Given the description of an element on the screen output the (x, y) to click on. 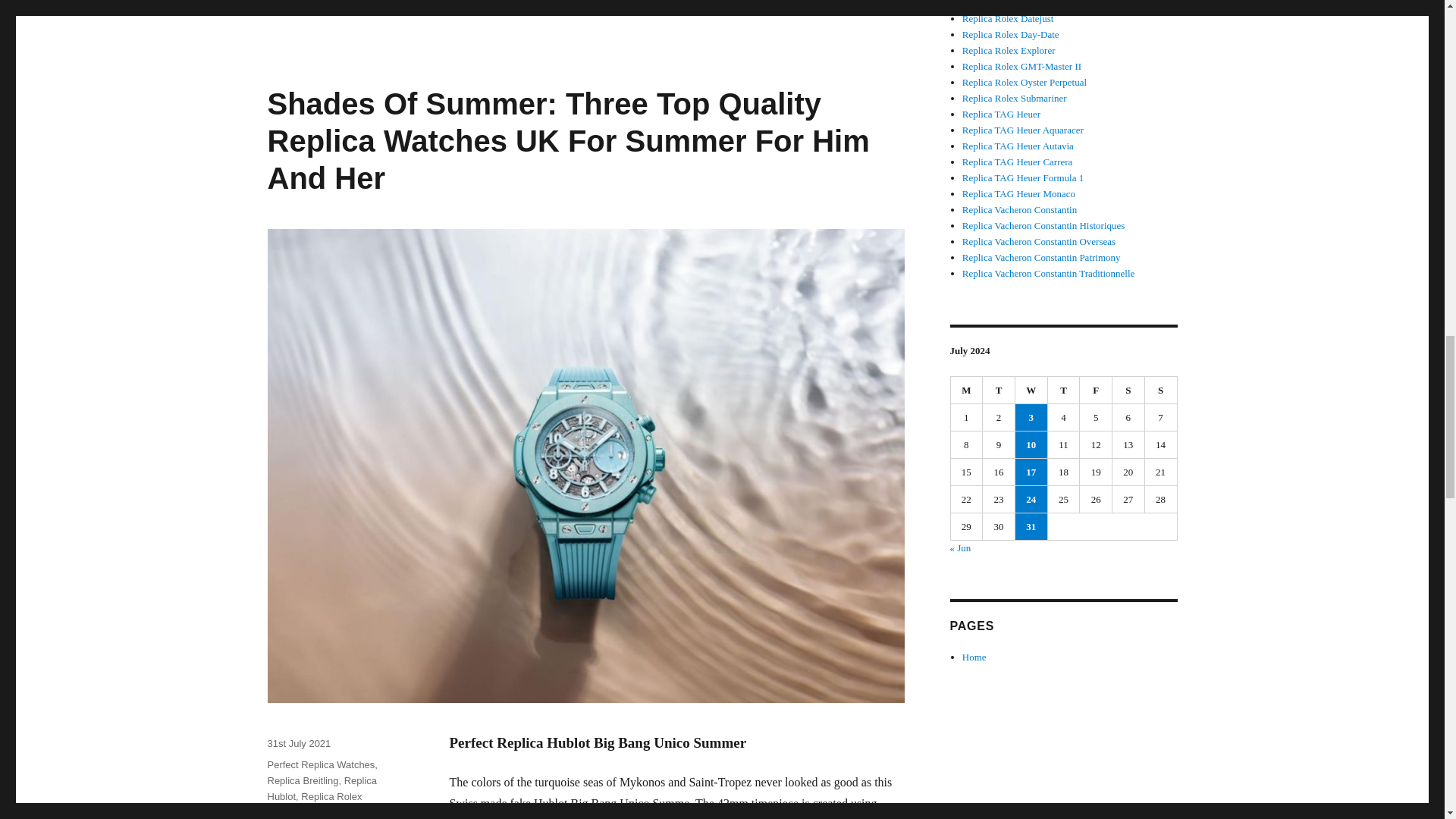
Tuesday (998, 390)
Replica Breitling (301, 780)
Wednesday (1031, 390)
Perfect Replica Watches (320, 764)
Replica Hublot (321, 788)
Perfect Fake Watches (314, 815)
Replica Rolex (331, 796)
Sunday (1160, 390)
Monday (967, 390)
Thursday (1064, 390)
Saturday (1128, 390)
Swiss Made Fake Watches (330, 815)
Friday (1096, 390)
31st July 2021 (298, 743)
